Given the description of an element on the screen output the (x, y) to click on. 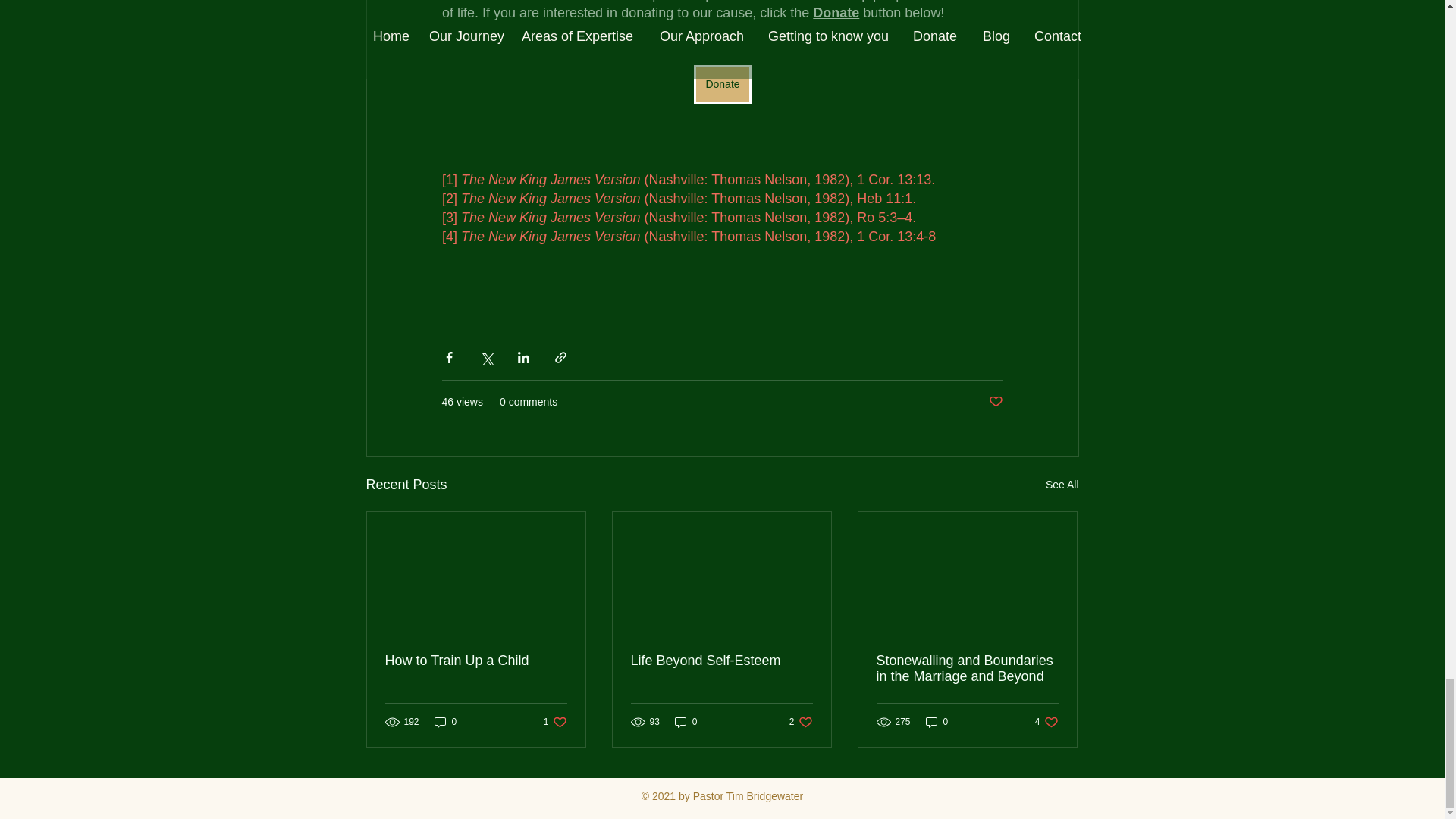
0 (685, 721)
See All (1061, 485)
How to Train Up a Child (800, 721)
Life Beyond Self-Esteem (476, 660)
0 (721, 660)
0 (555, 721)
Post not marked as liked (937, 721)
